Given the description of an element on the screen output the (x, y) to click on. 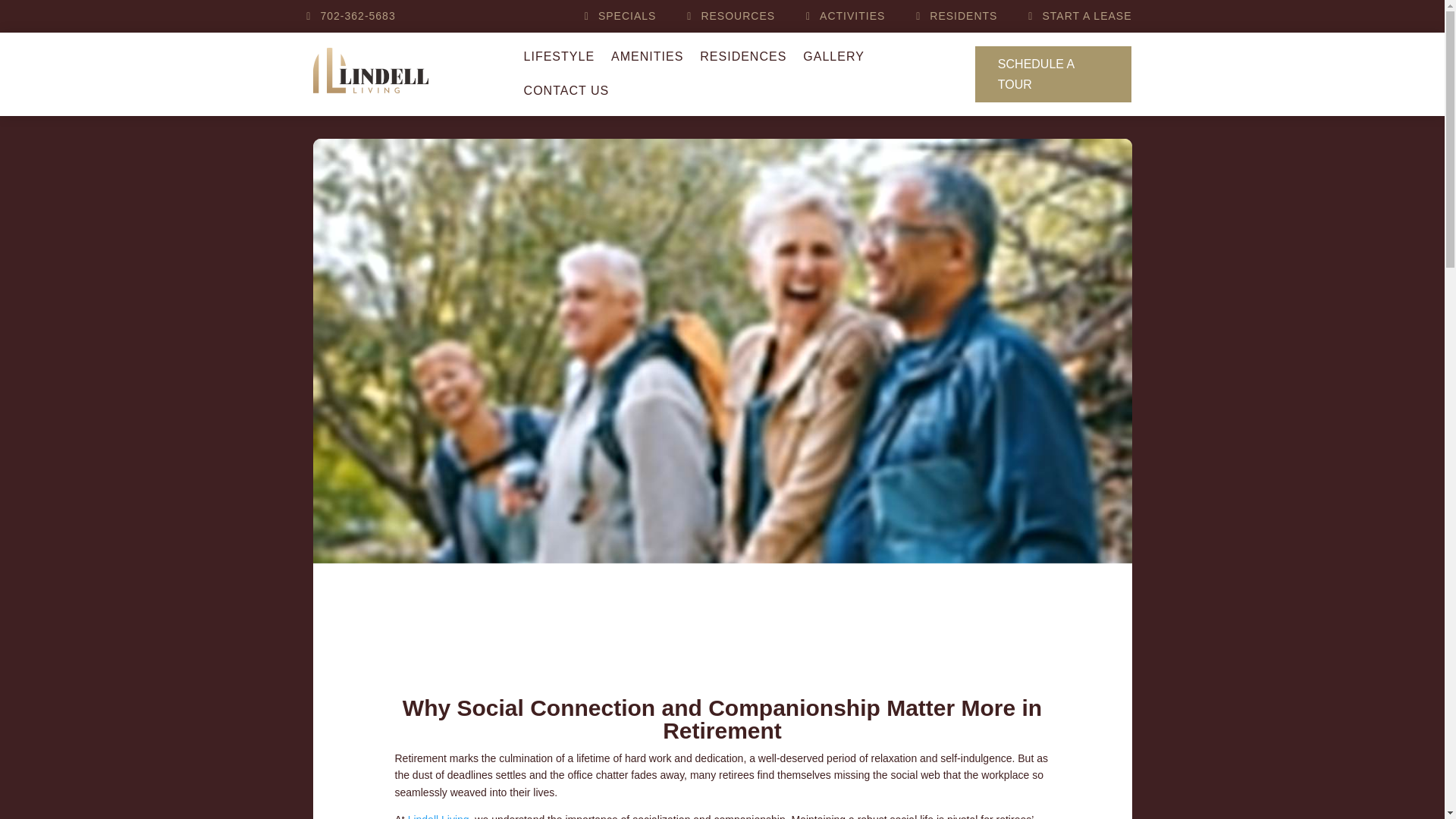
RESIDENTS (970, 16)
START A LEASE (1082, 16)
CONTACT US (567, 94)
LIFESTYLE (559, 59)
RESOURCES (745, 16)
ACTIVITIES (859, 16)
AMENITIES (646, 59)
702-362-5683 (365, 16)
GALLERY (833, 59)
